Given the description of an element on the screen output the (x, y) to click on. 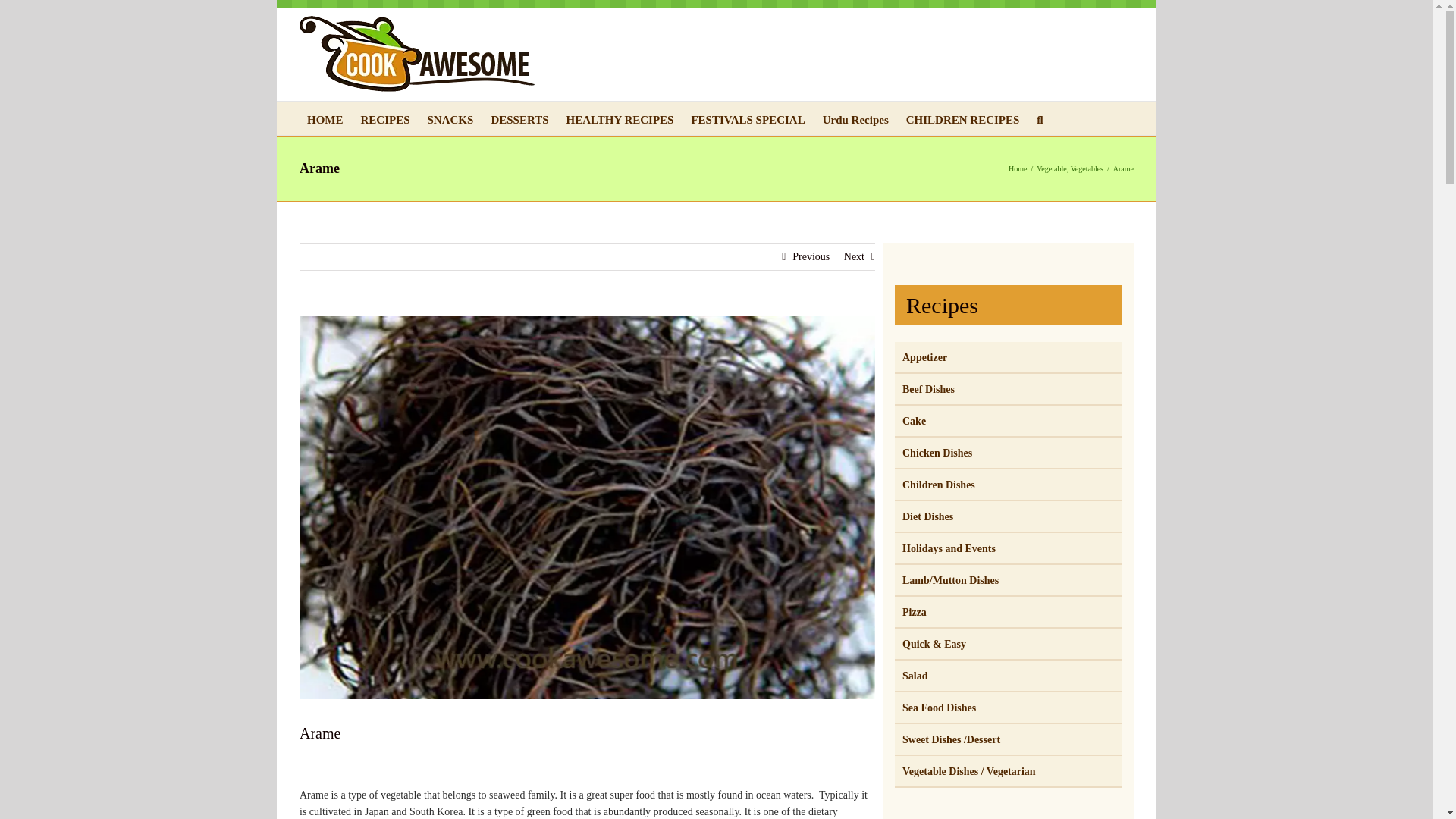
FESTIVALS SPECIAL (747, 118)
Previous (810, 257)
Home (1017, 167)
CHILDREN RECIPES (962, 118)
HOME (324, 118)
Vegetable (1050, 167)
RECIPES (385, 118)
Urdu Recipes (855, 118)
DESSERTS (519, 118)
